Given the description of an element on the screen output the (x, y) to click on. 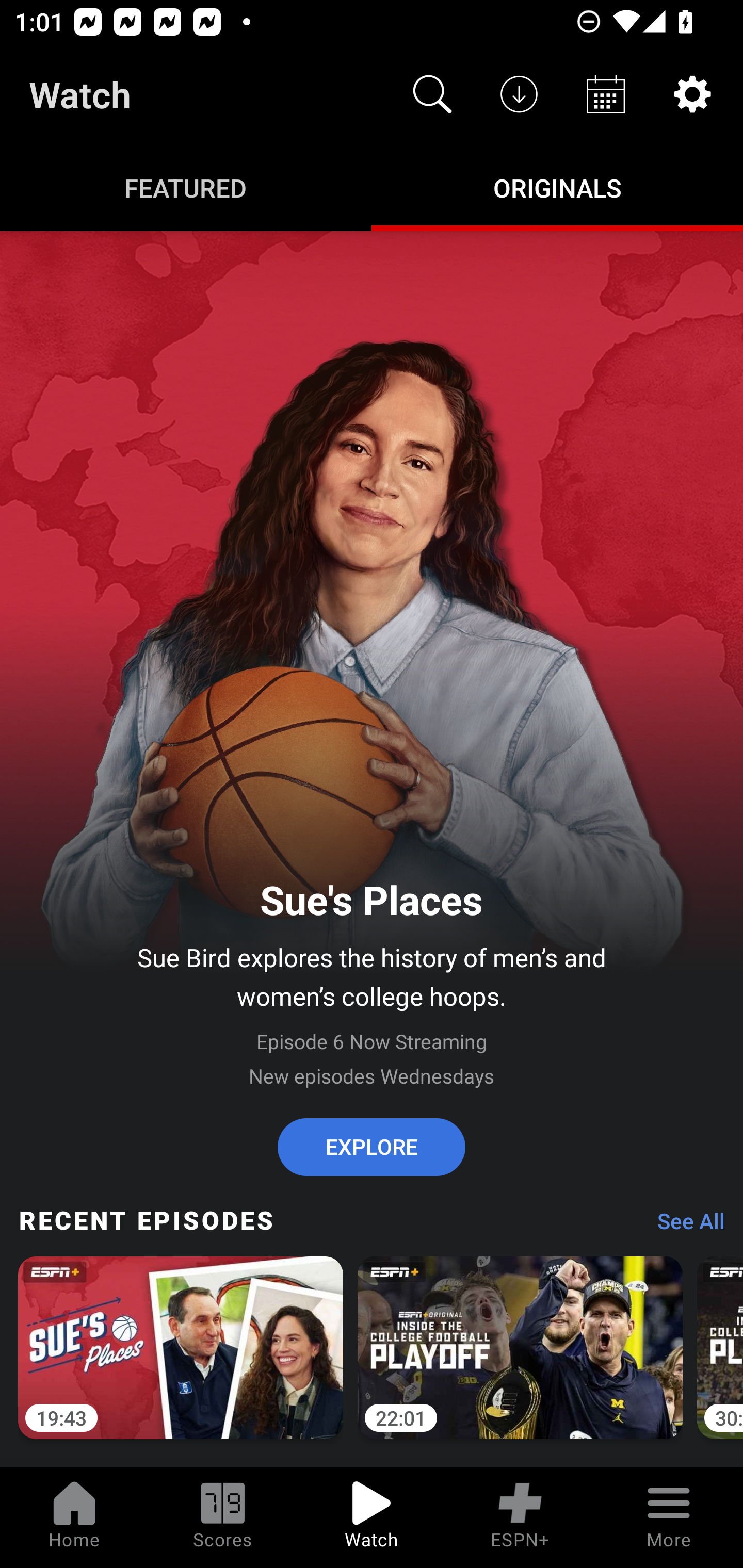
Search (432, 93)
Downloads (518, 93)
Schedule (605, 93)
Settings (692, 93)
Featured FEATURED (185, 187)
EXPLORE (371, 1146)
See All (683, 1225)
Home (74, 1517)
Scores (222, 1517)
ESPN+ (519, 1517)
More (668, 1517)
